Given the description of an element on the screen output the (x, y) to click on. 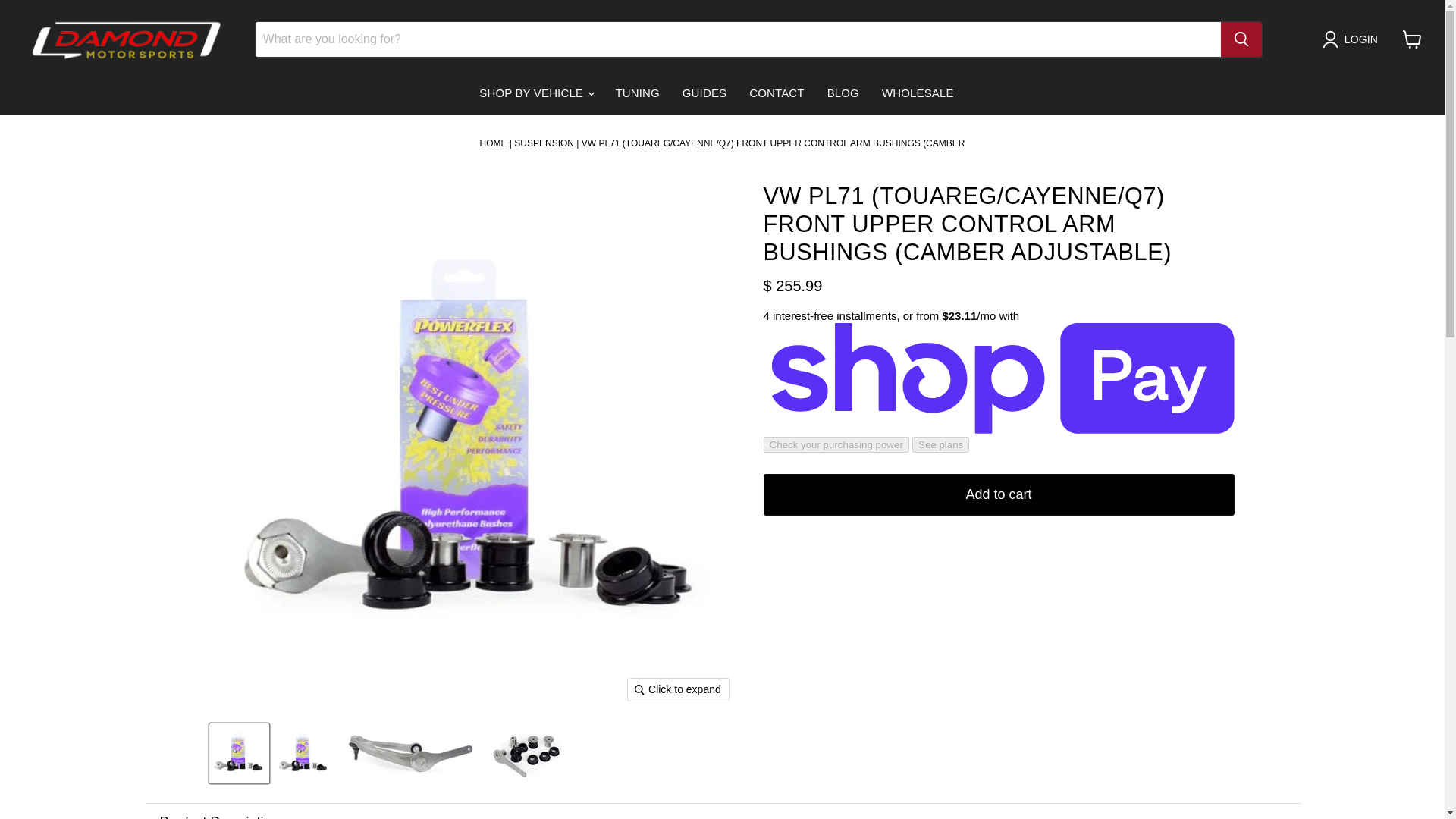
LOGIN (1353, 39)
View cart (1411, 39)
suspension (543, 143)
WHOLESALE (917, 92)
BLOG (842, 92)
GUIDES (704, 92)
TUNING (636, 92)
CONTACT (776, 92)
Home (493, 143)
